Given the description of an element on the screen output the (x, y) to click on. 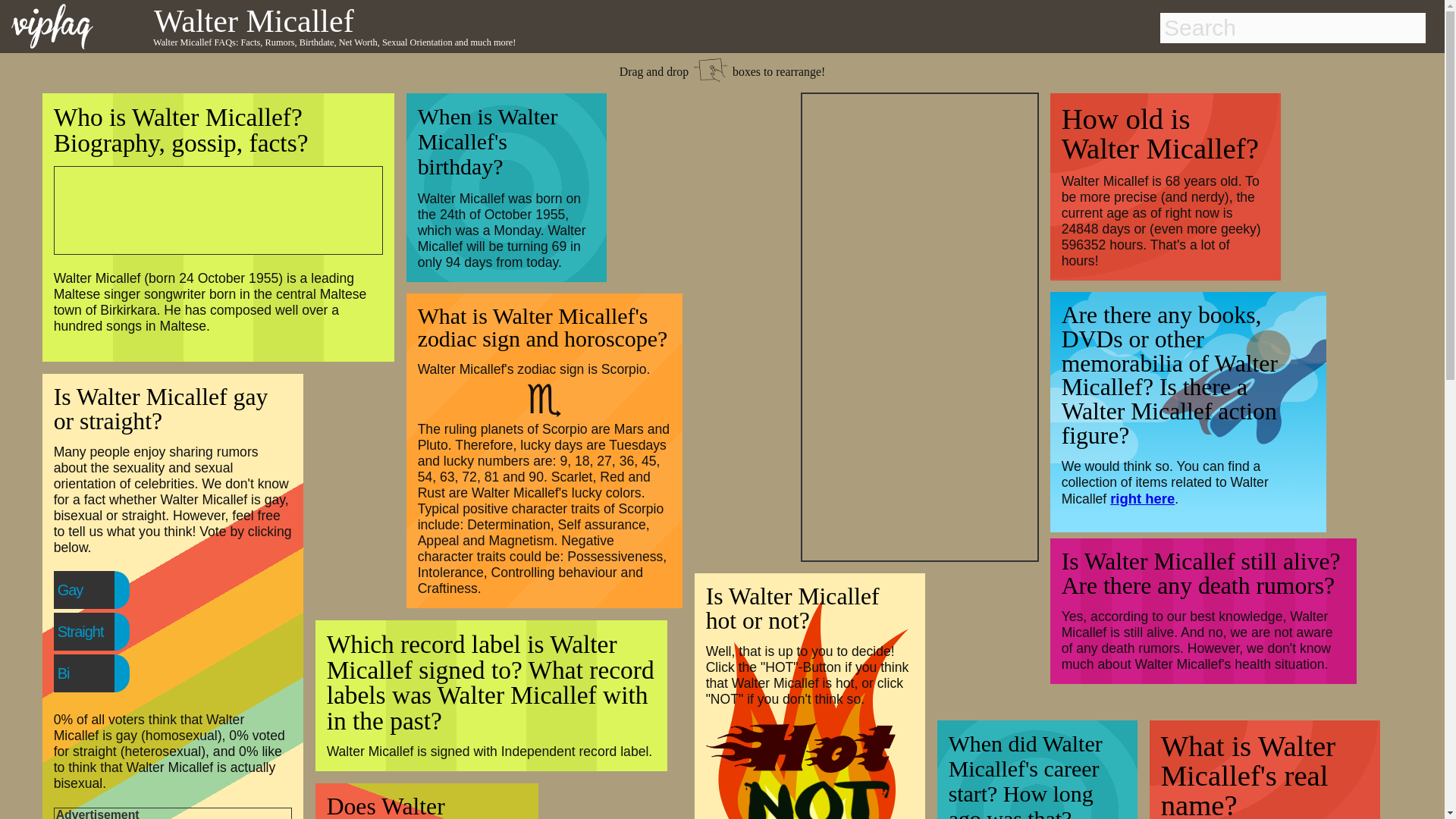
right here (1141, 498)
Gay (101, 590)
Straight (111, 631)
Advertisement (209, 208)
Bi (94, 673)
